Given the description of an element on the screen output the (x, y) to click on. 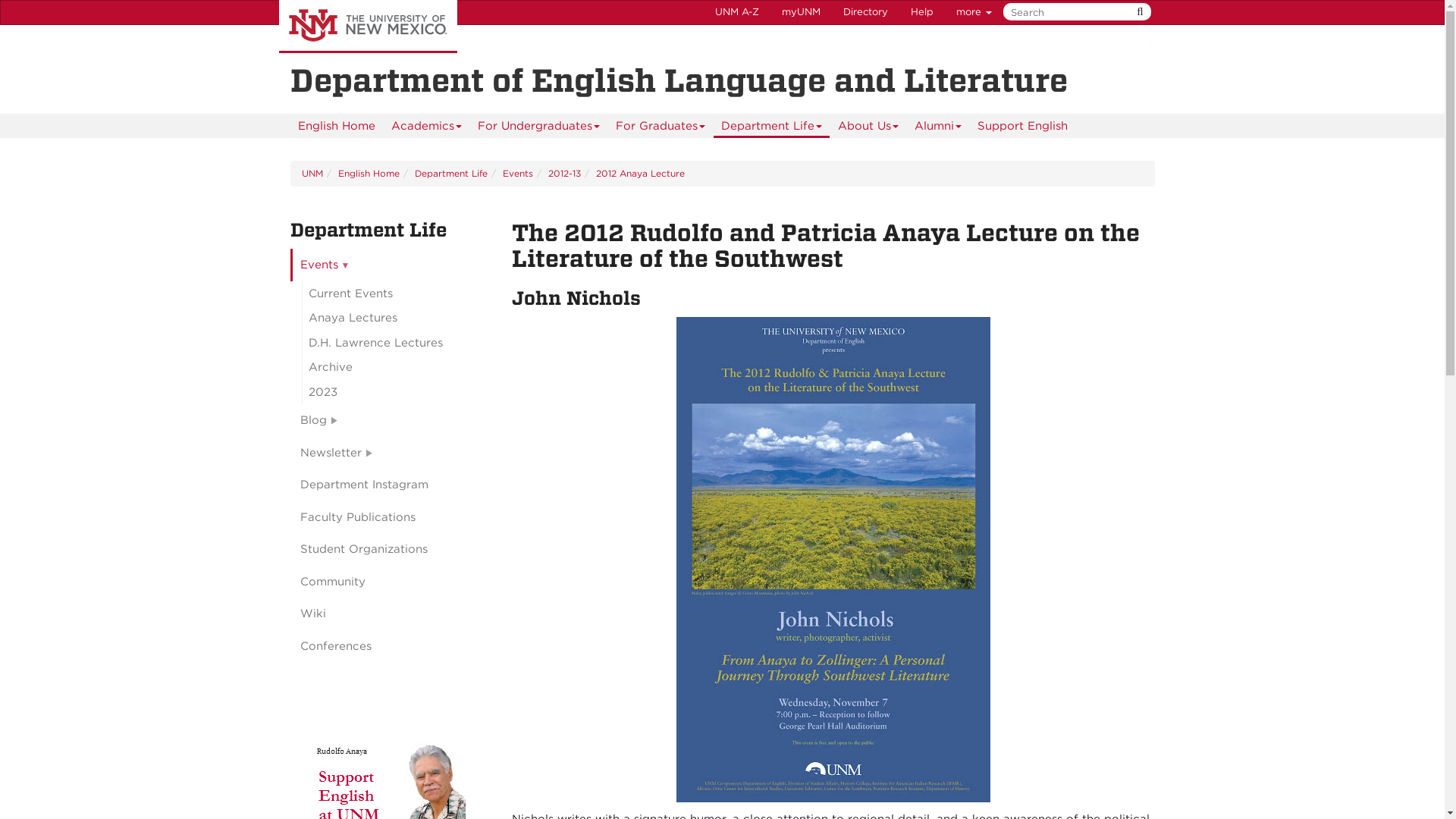
Department of English Language and Literature (721, 79)
Directory (865, 11)
myUNM (800, 11)
Help (921, 11)
For Undergraduates  (538, 125)
more (973, 11)
input search query here (1073, 12)
UNM A-Z (736, 11)
Directory (865, 11)
myUNM (800, 11)
